Given the description of an element on the screen output the (x, y) to click on. 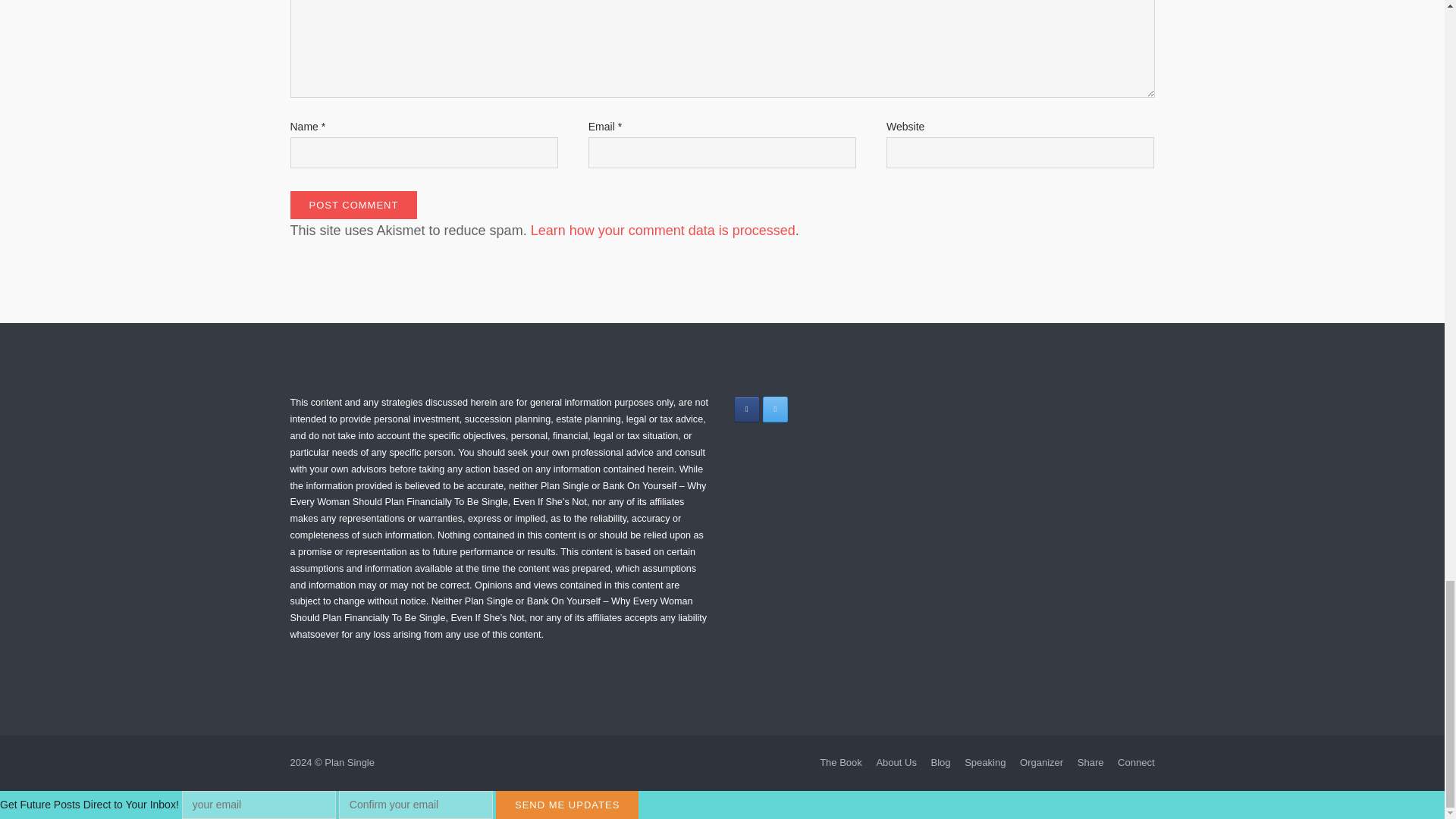
Post Comment (352, 204)
Plan Single on X Twitter (775, 408)
Share (1090, 762)
Post Comment (352, 204)
Plan Single on  (802, 408)
Connect (1136, 762)
Speaking (984, 762)
Learn how your comment data is processed (662, 230)
The Book (840, 762)
About Us (895, 762)
